Given the description of an element on the screen output the (x, y) to click on. 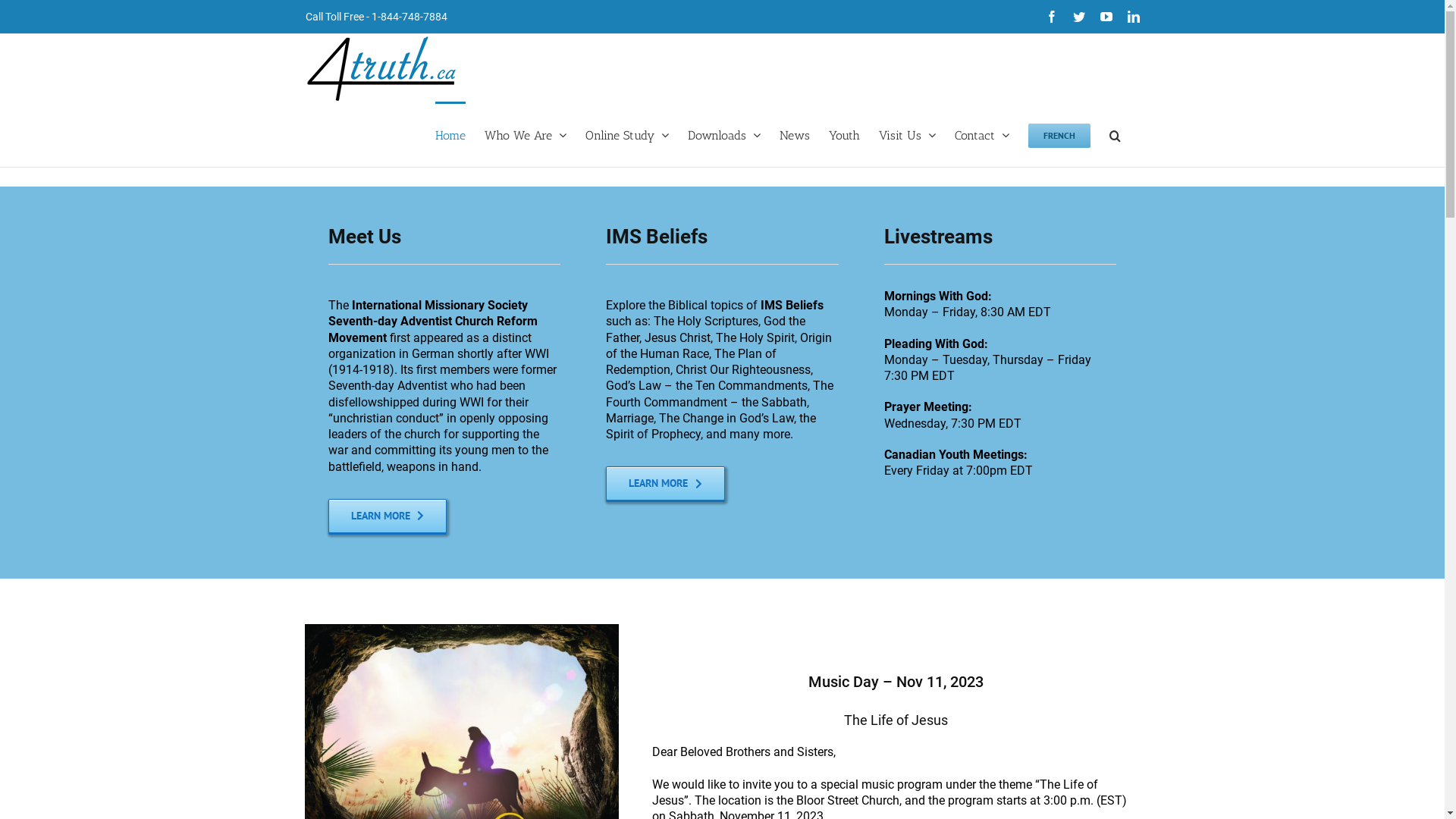
Visit Us Element type: text (906, 133)
YouTube Element type: text (1105, 16)
Home Element type: text (450, 133)
Youth Element type: text (843, 133)
FRENCH Element type: text (1059, 133)
Contact Element type: text (980, 133)
Twitter Element type: text (1078, 16)
Who We Are Element type: text (524, 133)
LEARN MORE Element type: text (664, 483)
Search Element type: hover (1114, 133)
LinkedIn Element type: text (1132, 16)
News Element type: text (794, 133)
Facebook Element type: text (1050, 16)
Online Study Element type: text (626, 133)
Downloads Element type: text (723, 133)
LEARN MORE Element type: text (386, 515)
